Given the description of an element on the screen output the (x, y) to click on. 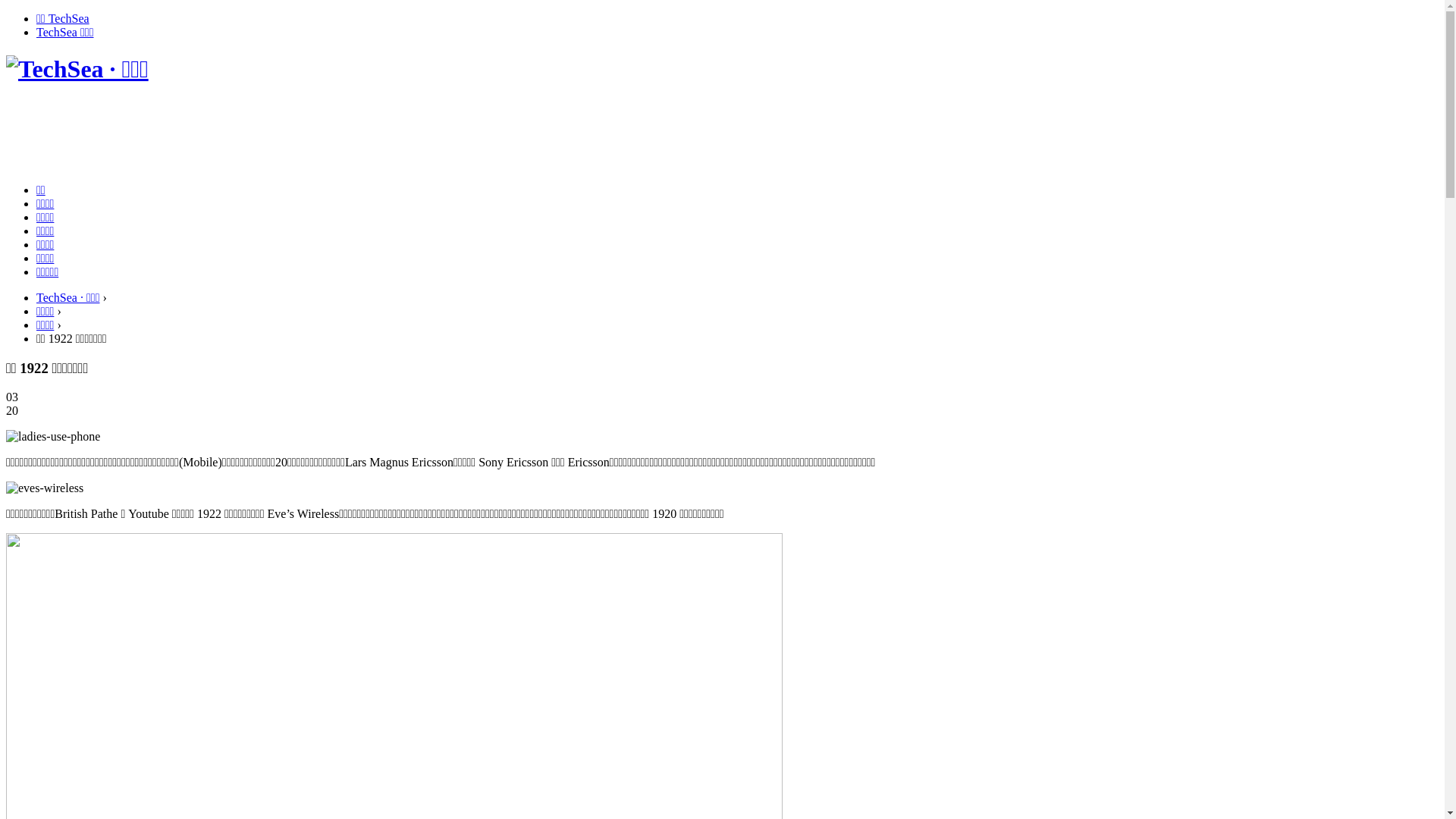
Advertisement Element type: hover (282, 134)
